Given the description of an element on the screen output the (x, y) to click on. 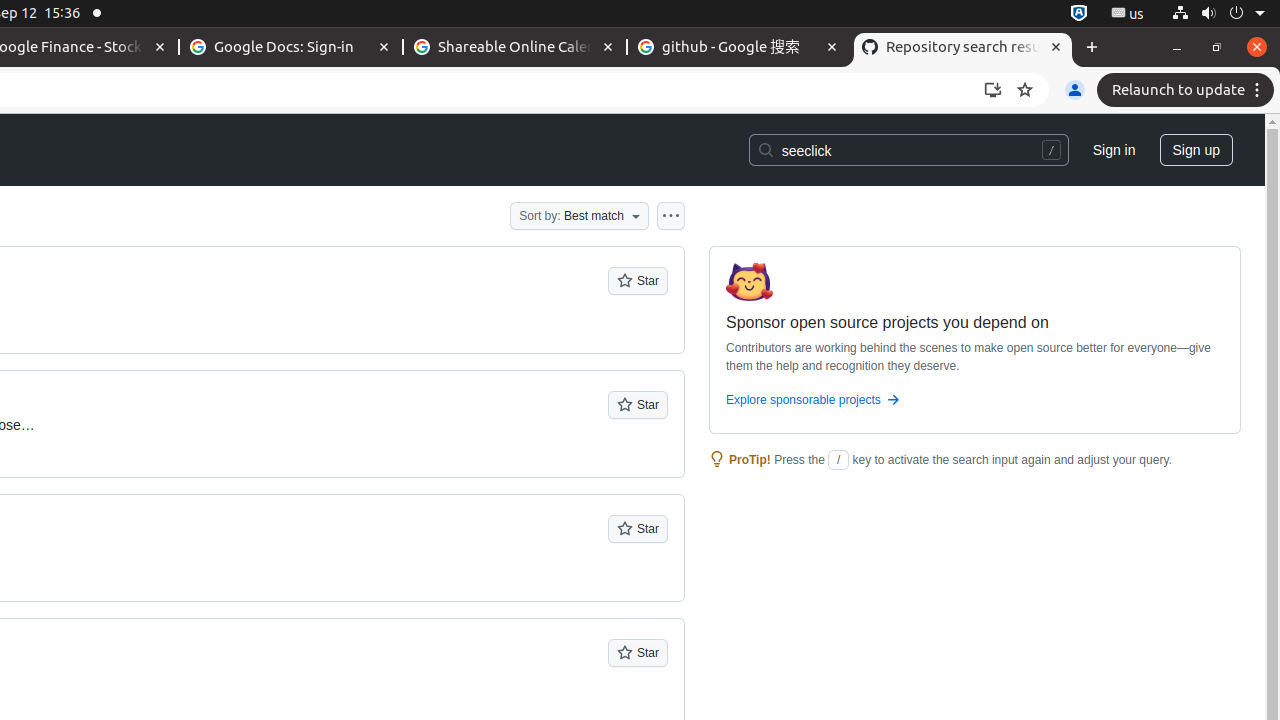
Google Docs: Sign-in - Memory usage - 31.9 MB Element type: page-tab (291, 47)
Install GitHub Element type: push-button (993, 90)
Shareable Online Calendar and Scheduling - Google Calendar - Memory usage - 88.4 MB Element type: page-tab (515, 47)
Star Element type: link (637, 281)
Open column options Element type: push-button (671, 215)
